Given the description of an element on the screen output the (x, y) to click on. 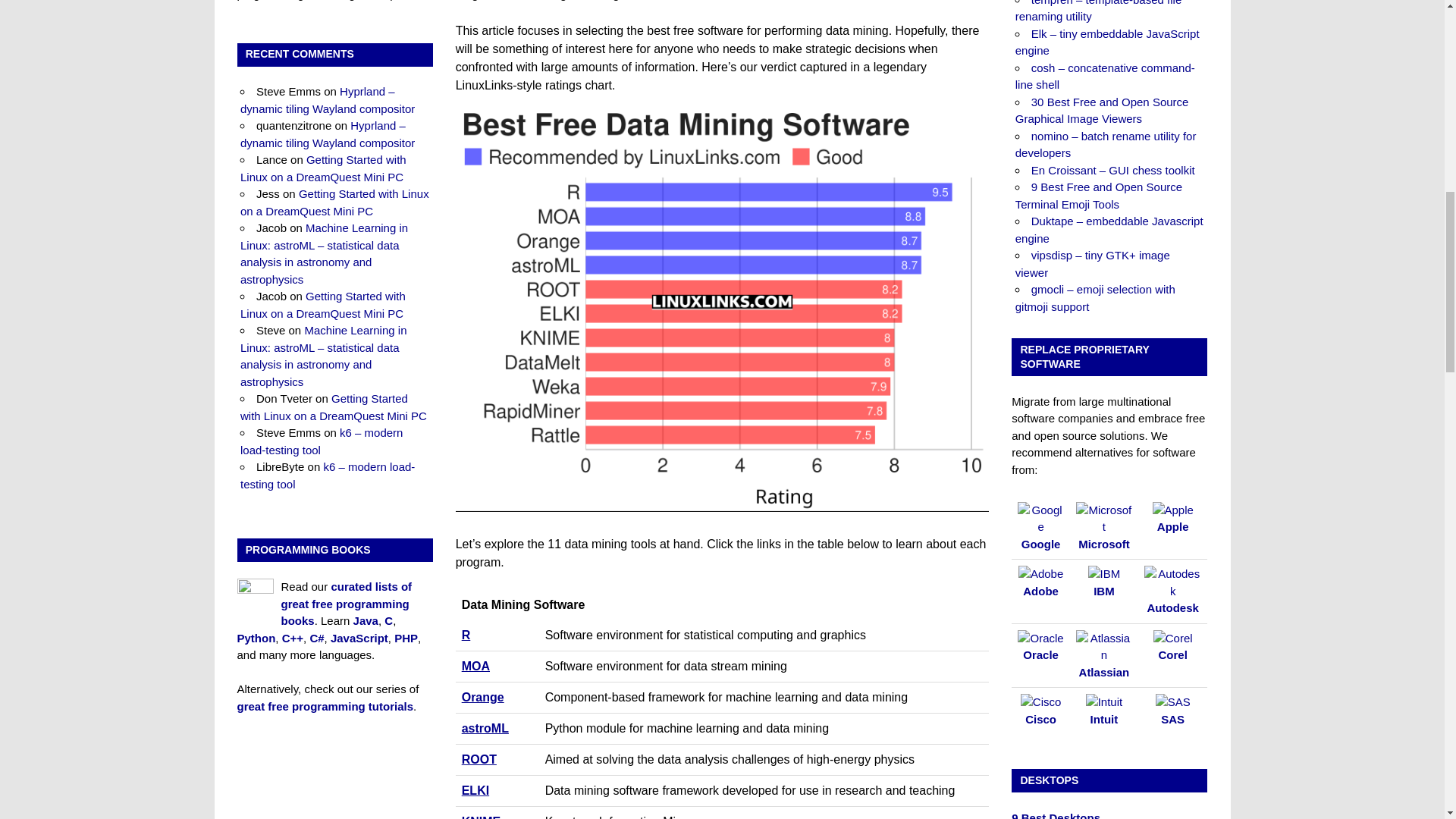
KNIME (480, 816)
astroML (484, 727)
Orange (482, 697)
MOA (475, 666)
ROOT (478, 758)
ELKI (475, 789)
